Given the description of an element on the screen output the (x, y) to click on. 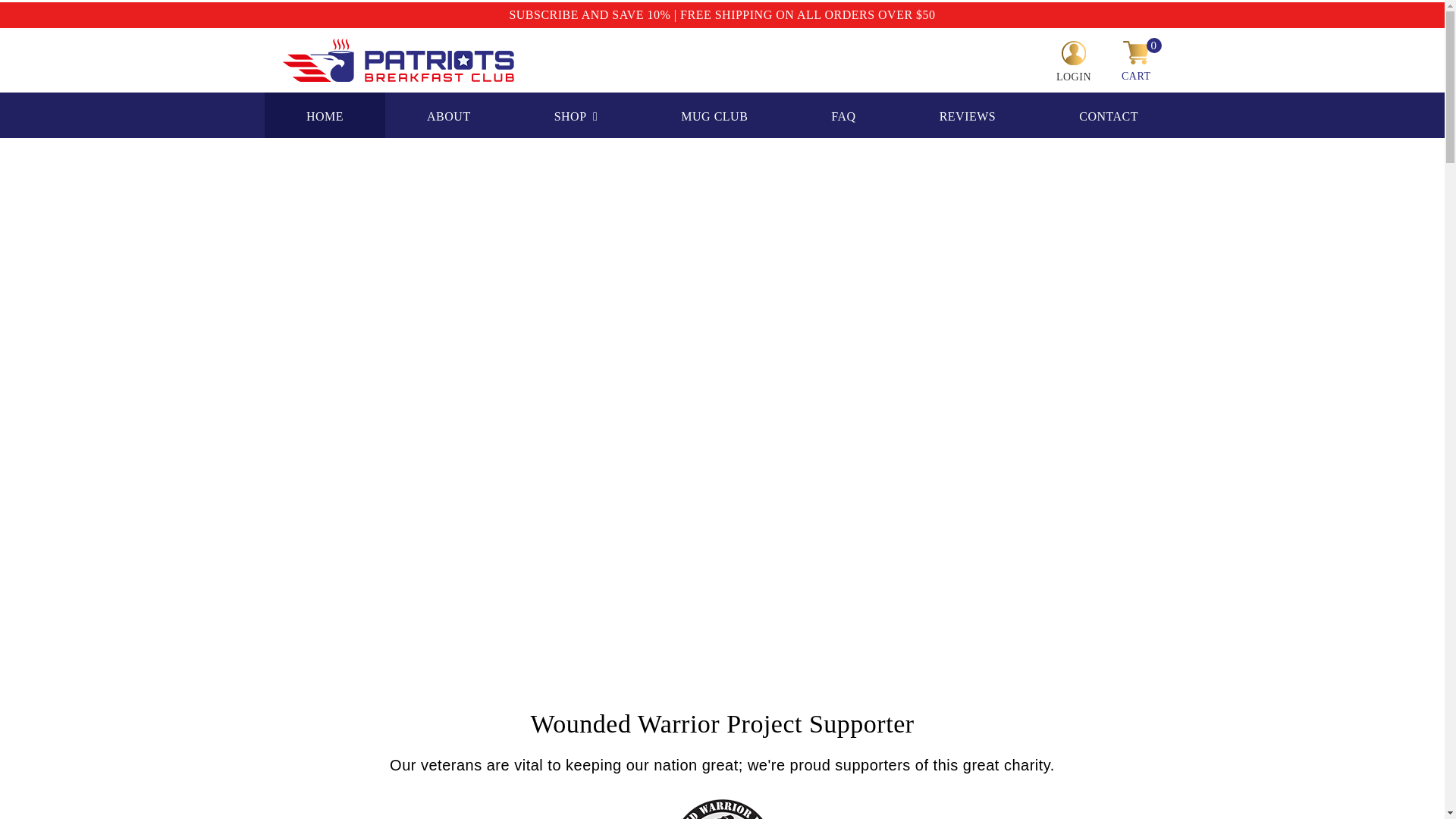
REVIEWS (968, 115)
CONTACT (1107, 115)
FAQ (842, 115)
MUG CLUB (714, 115)
SHOP   (576, 115)
HOME (324, 115)
ABOUT (448, 115)
